Given the description of an element on the screen output the (x, y) to click on. 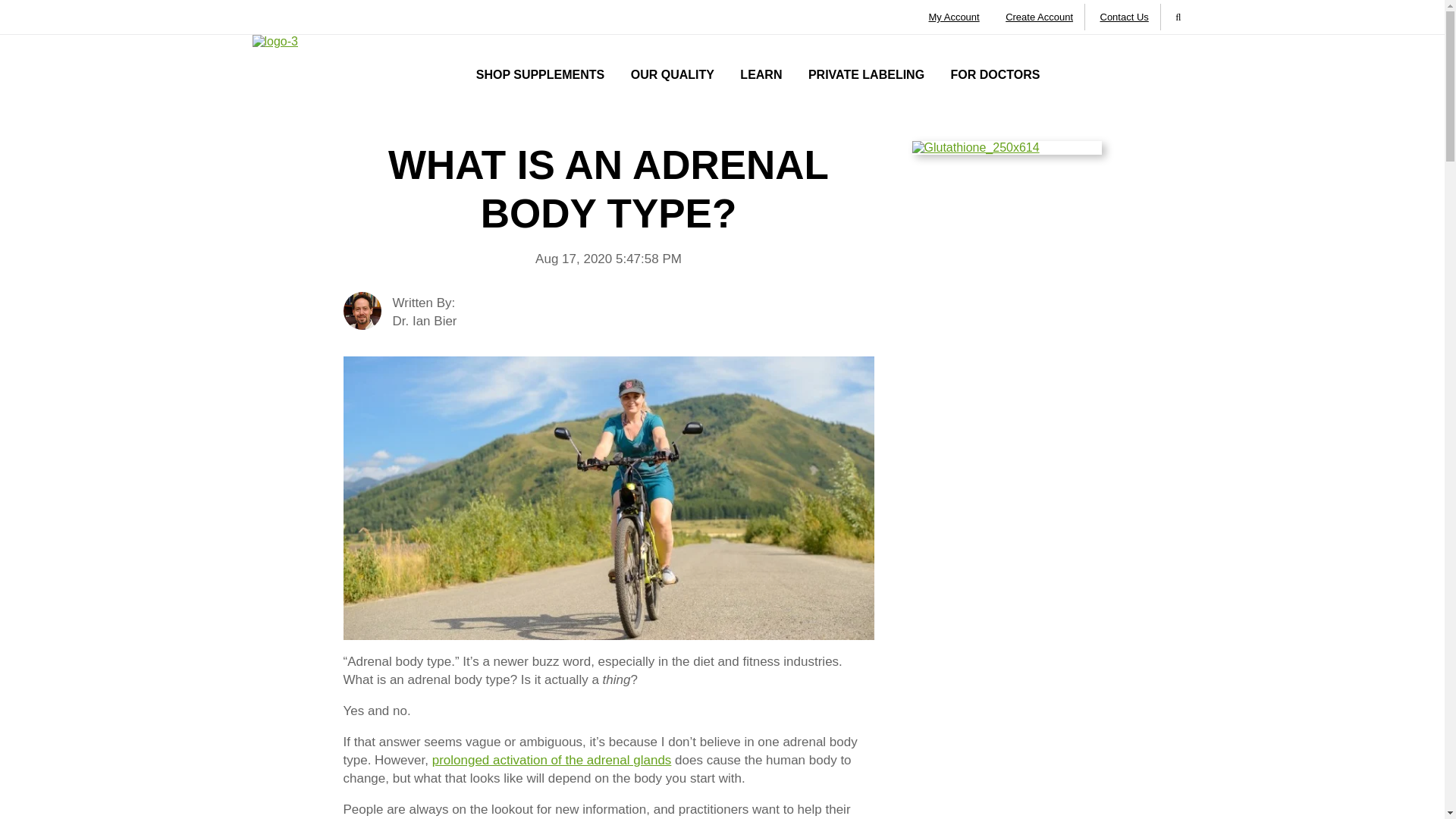
Create Account (1039, 16)
Contact Us (1123, 16)
My Account (953, 16)
